Given the description of an element on the screen output the (x, y) to click on. 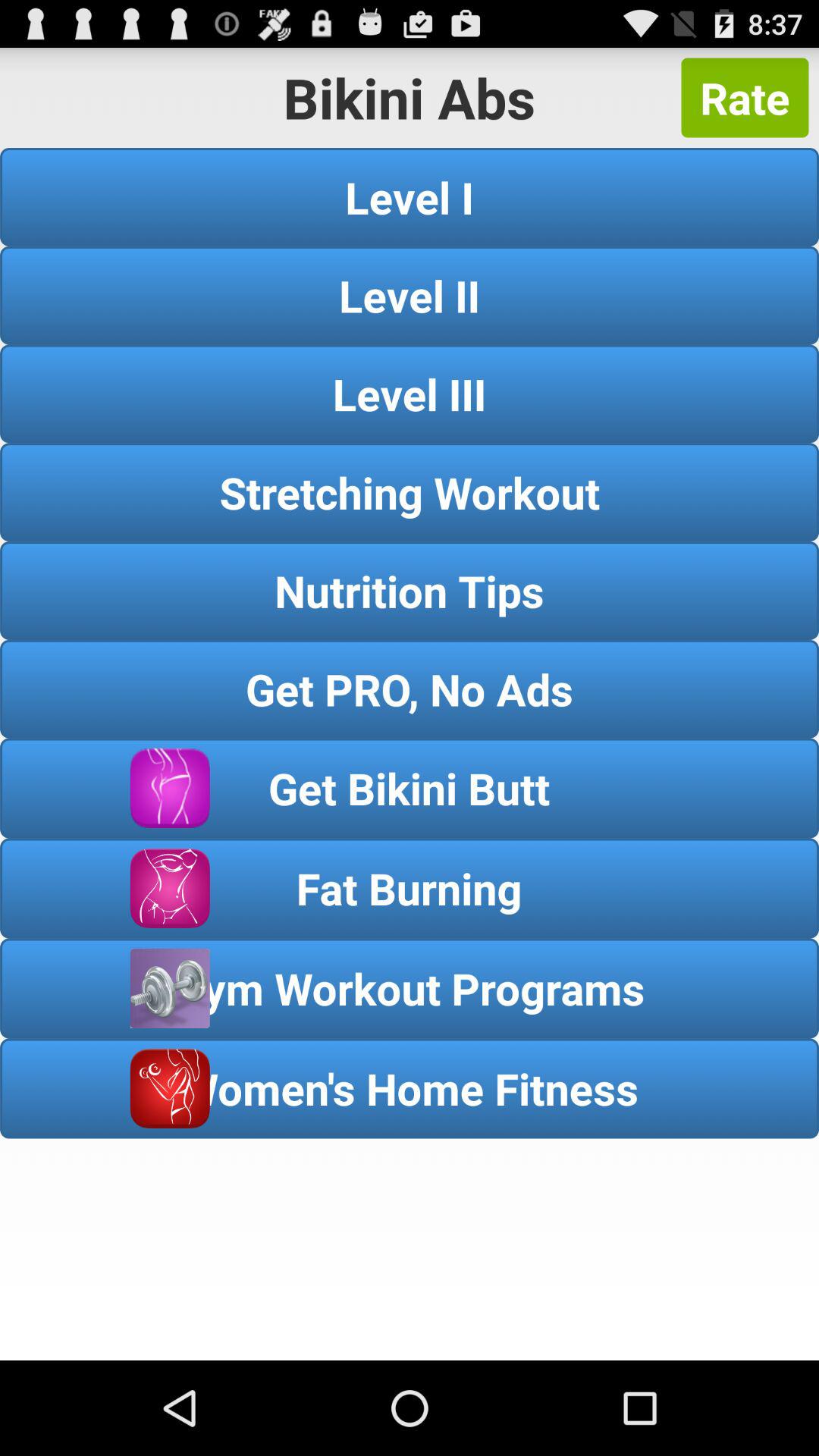
tap icon below rate button (409, 196)
